Given the description of an element on the screen output the (x, y) to click on. 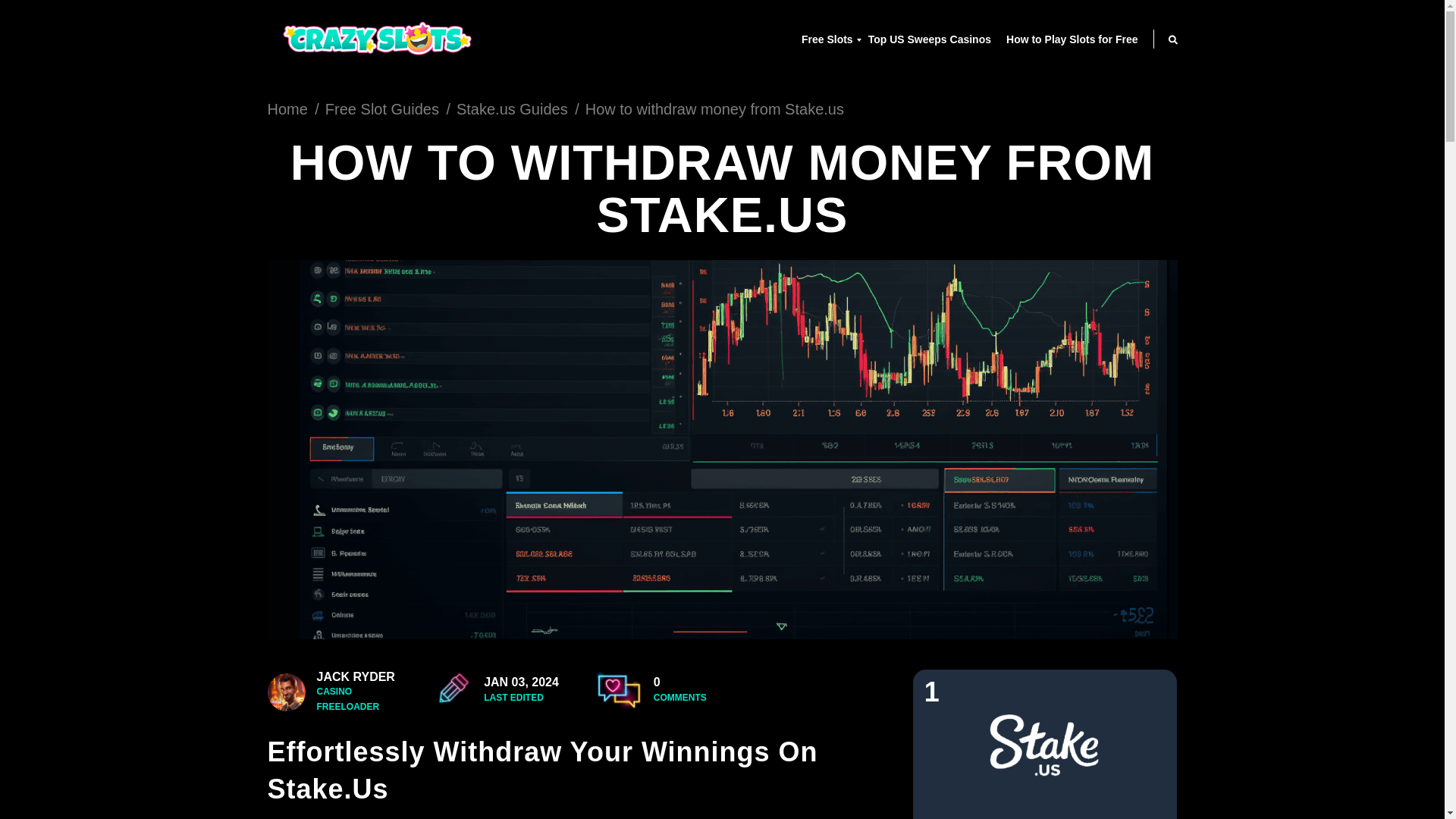
How to Play Slots for Free (1071, 39)
Free Slots (827, 39)
Free Slot Guides (381, 108)
Stake.us Guides (512, 108)
Top US Sweeps Casinos (929, 39)
JACK RYDER (355, 676)
Home (286, 108)
